Given the description of an element on the screen output the (x, y) to click on. 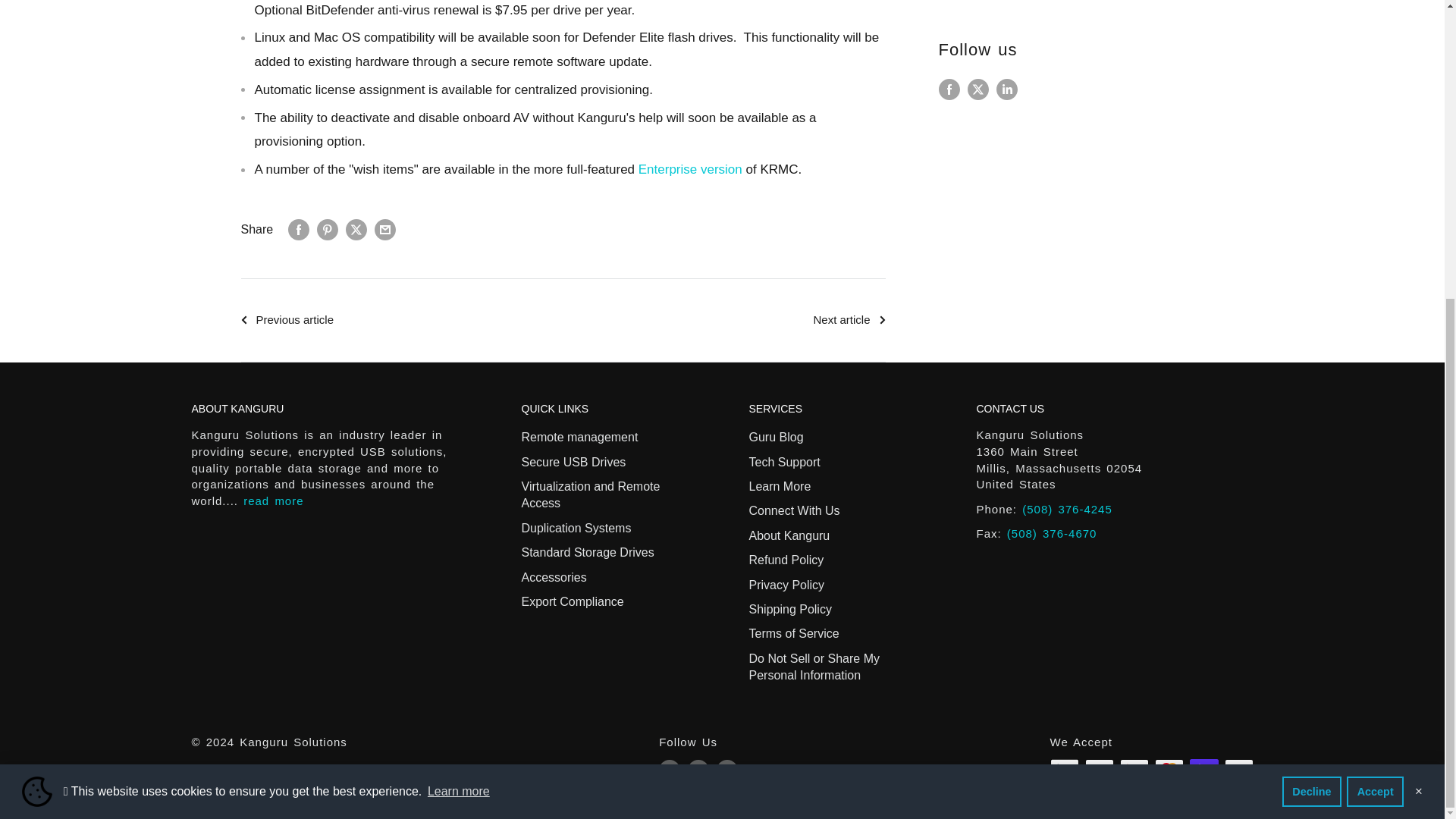
KRMC Enterprise (690, 169)
About Us (272, 500)
Accept (1374, 329)
Learn more (458, 329)
Decline (1311, 329)
tel:5083764670 (1052, 533)
tel:5083764245 (1067, 508)
